Given the description of an element on the screen output the (x, y) to click on. 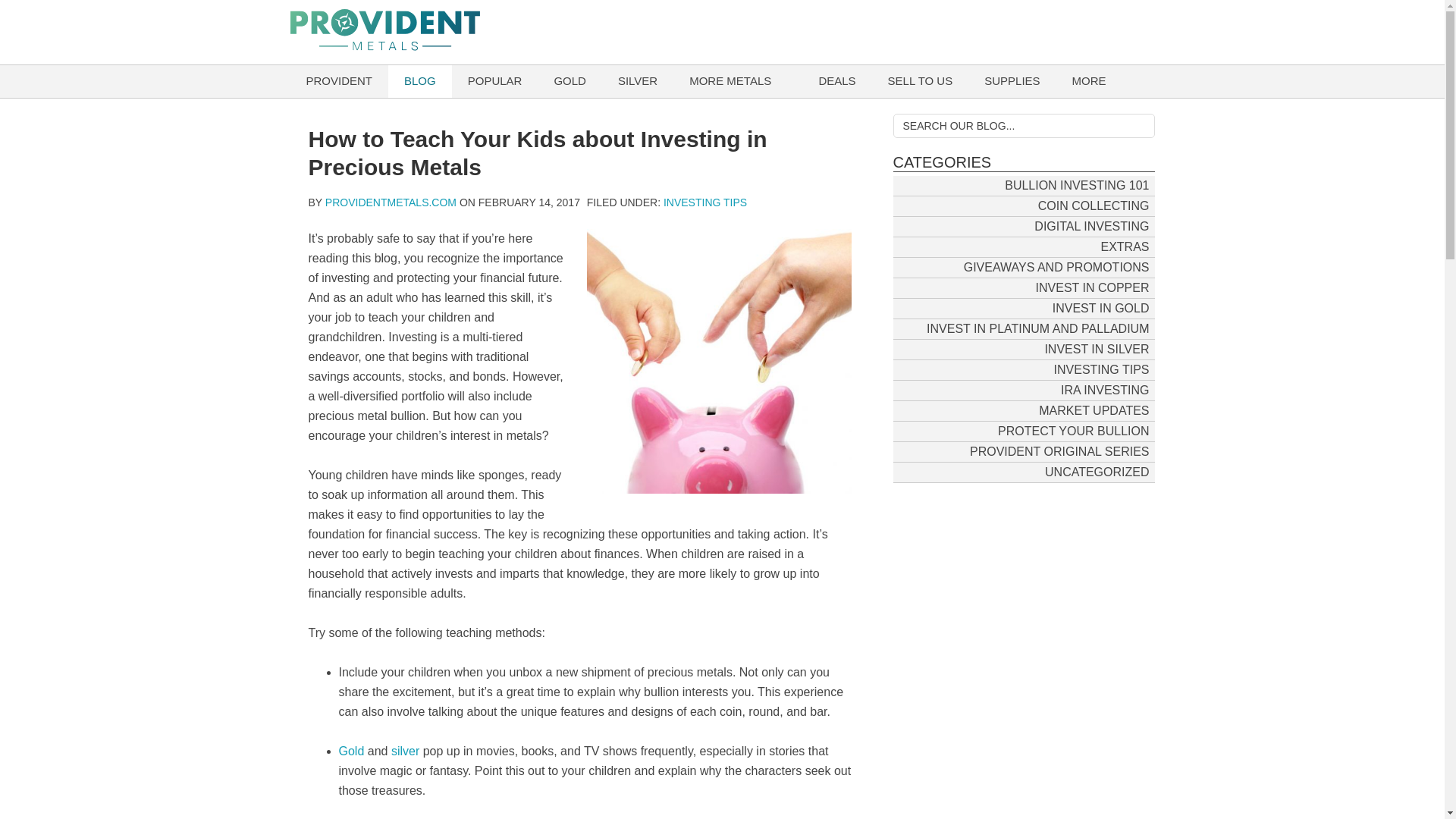
MORE METALS (729, 81)
POPULAR (494, 81)
MARKET UPDATES (1093, 410)
Gold (351, 750)
INVEST IN PLATINUM AND PALLADIUM (1037, 328)
MORE (1089, 81)
SUPPLIES (1011, 81)
COIN COLLECTING (1093, 205)
silver (407, 750)
SELL TO US (920, 81)
IRA INVESTING (1104, 390)
GIVEAWAYS AND PROMOTIONS (1056, 267)
INVESTING TIPS (1101, 369)
INVEST IN GOLD (1100, 308)
BULLION INVESTING 101 (1076, 185)
